Given the description of an element on the screen output the (x, y) to click on. 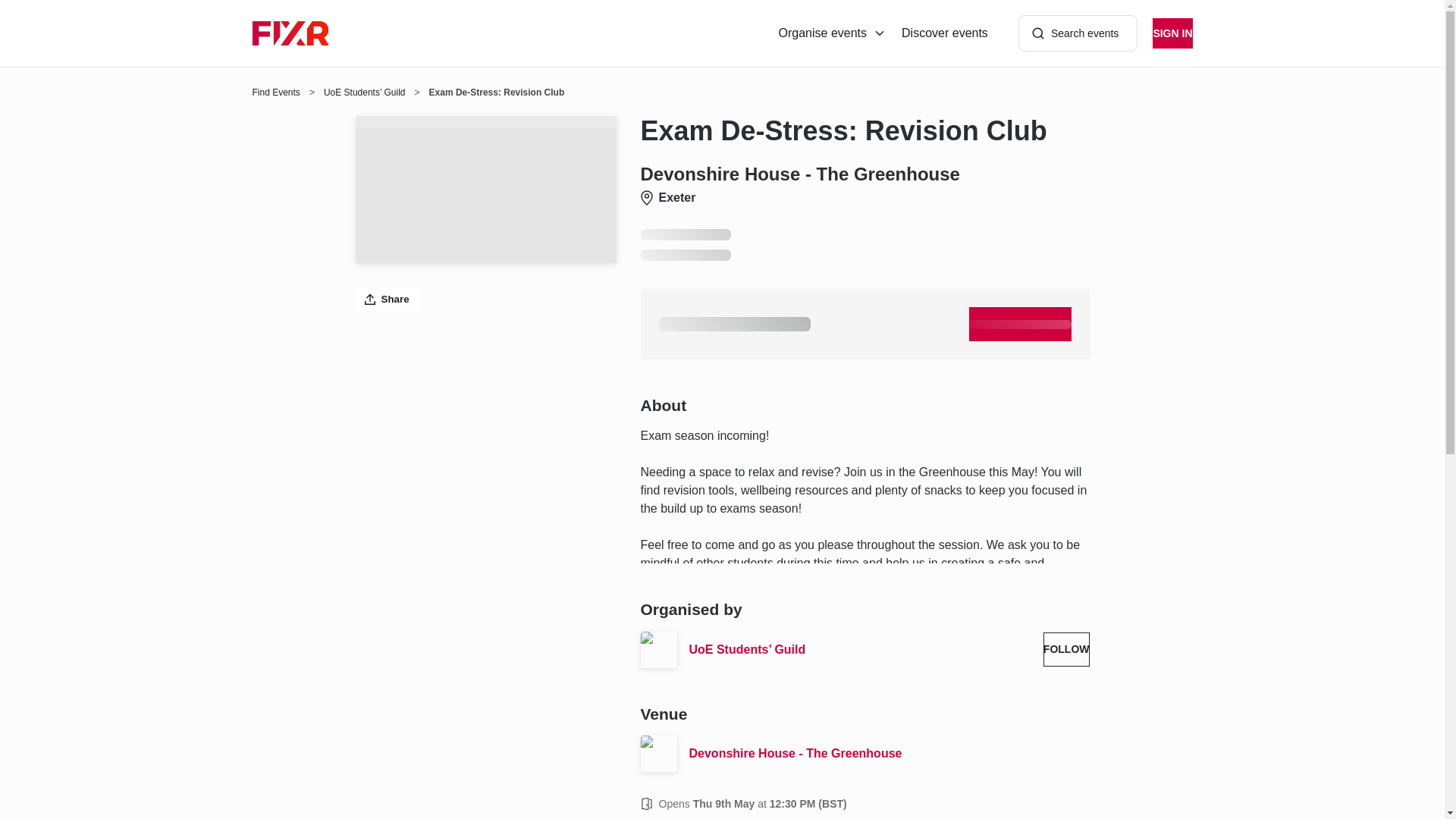
SIGN IN (1172, 33)
Share (386, 298)
FOLLOW (1066, 649)
Devonshire House - The Greenhouse (888, 753)
Discover events (944, 33)
Exam De-Stress: Revision Club (864, 131)
PLACEHOLDER TEXT (1020, 324)
Search events (1077, 33)
Find Events (275, 92)
Organise events (832, 33)
